Given the description of an element on the screen output the (x, y) to click on. 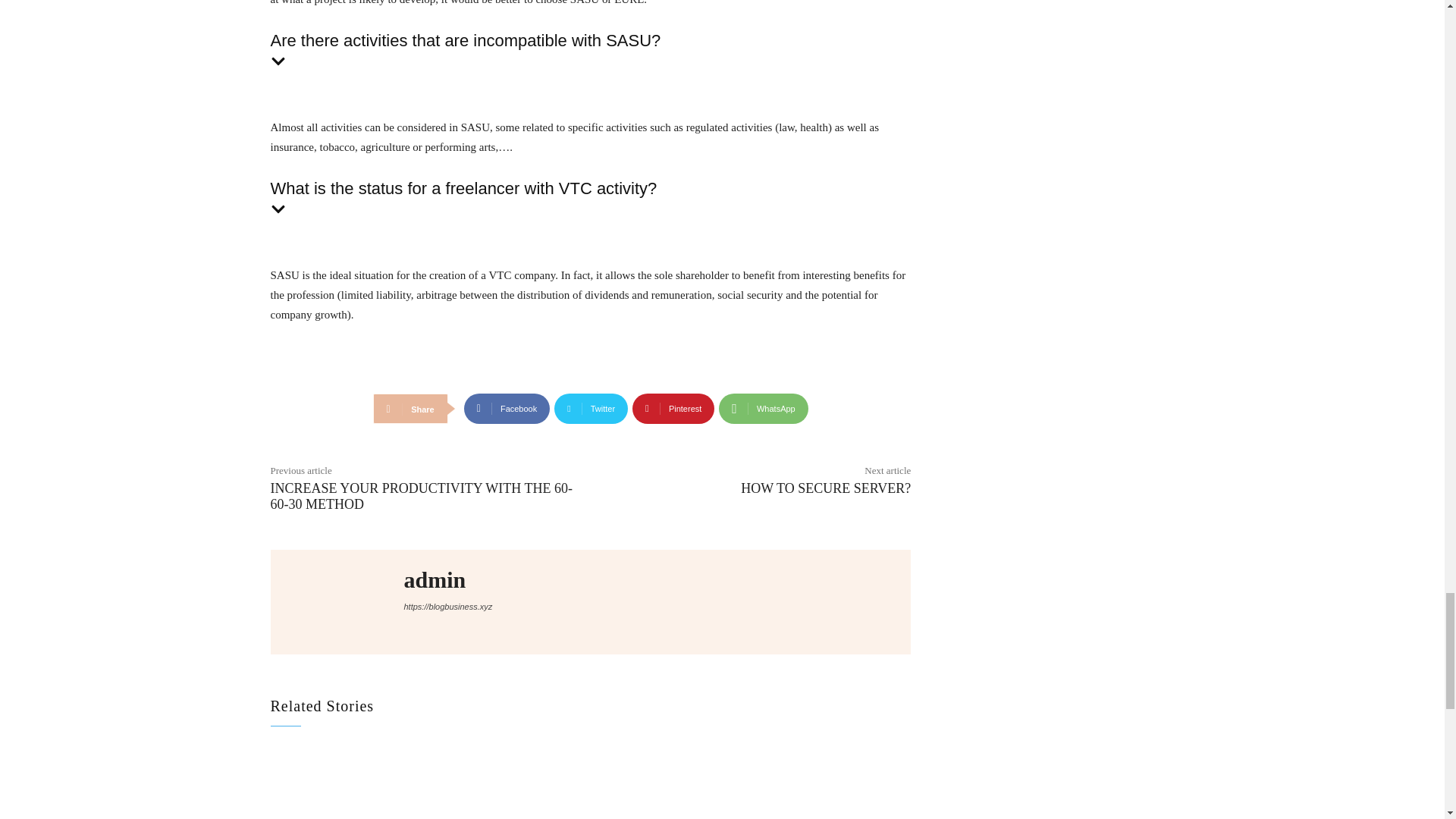
Twitter (590, 408)
Pinterest (672, 408)
Facebook (507, 408)
